Given the description of an element on the screen output the (x, y) to click on. 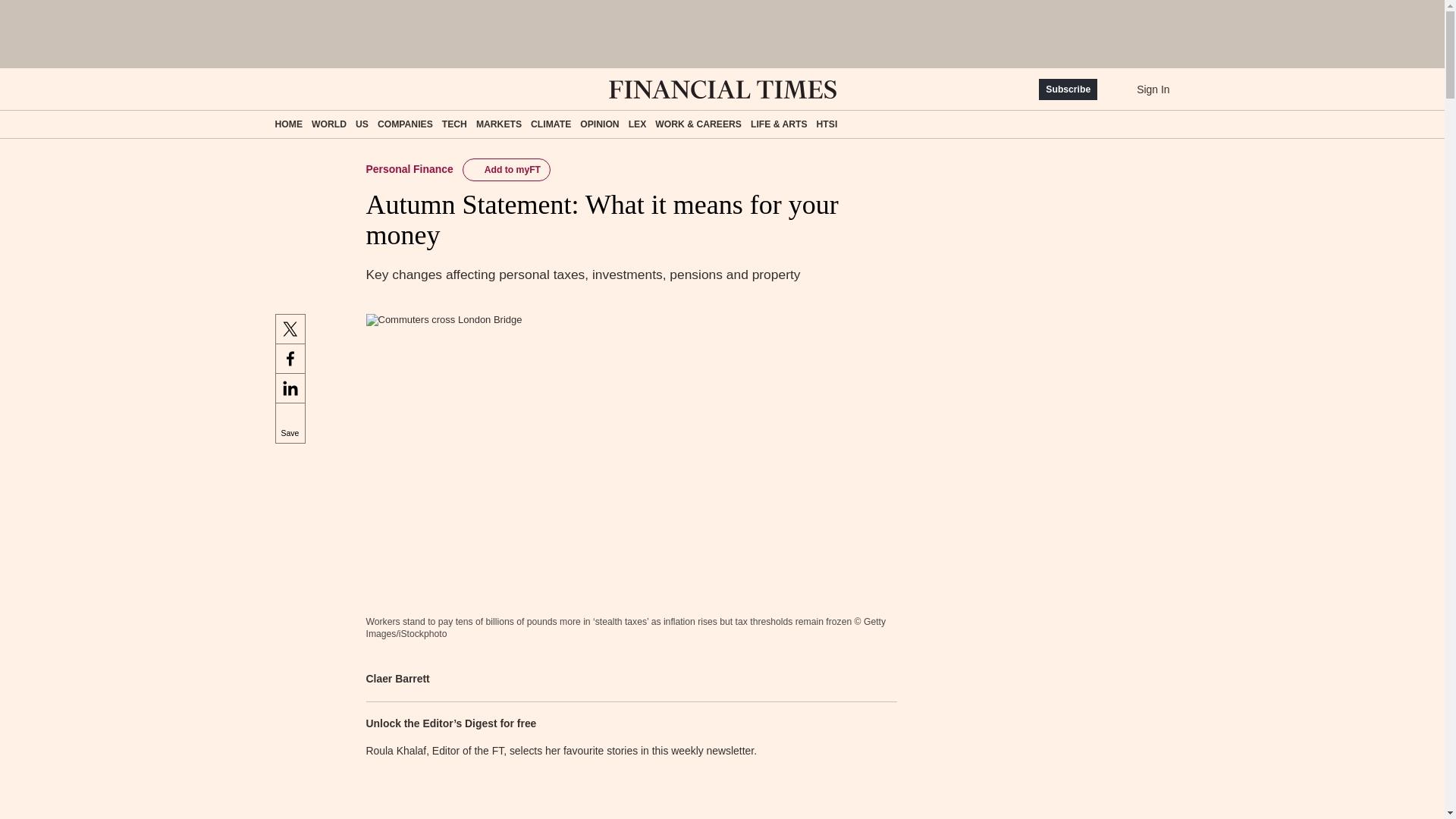
Financial Times (721, 89)
Go to Financial Times homepage (721, 89)
WORLD (328, 124)
Subscribe (1068, 88)
Open side navigation menu (281, 89)
HOME (288, 124)
Add Personal Finance to myFT (506, 169)
Open search bar (327, 89)
OPEN SIDE NAVIGATION MENU (281, 89)
Print this page (879, 678)
